Given the description of an element on the screen output the (x, y) to click on. 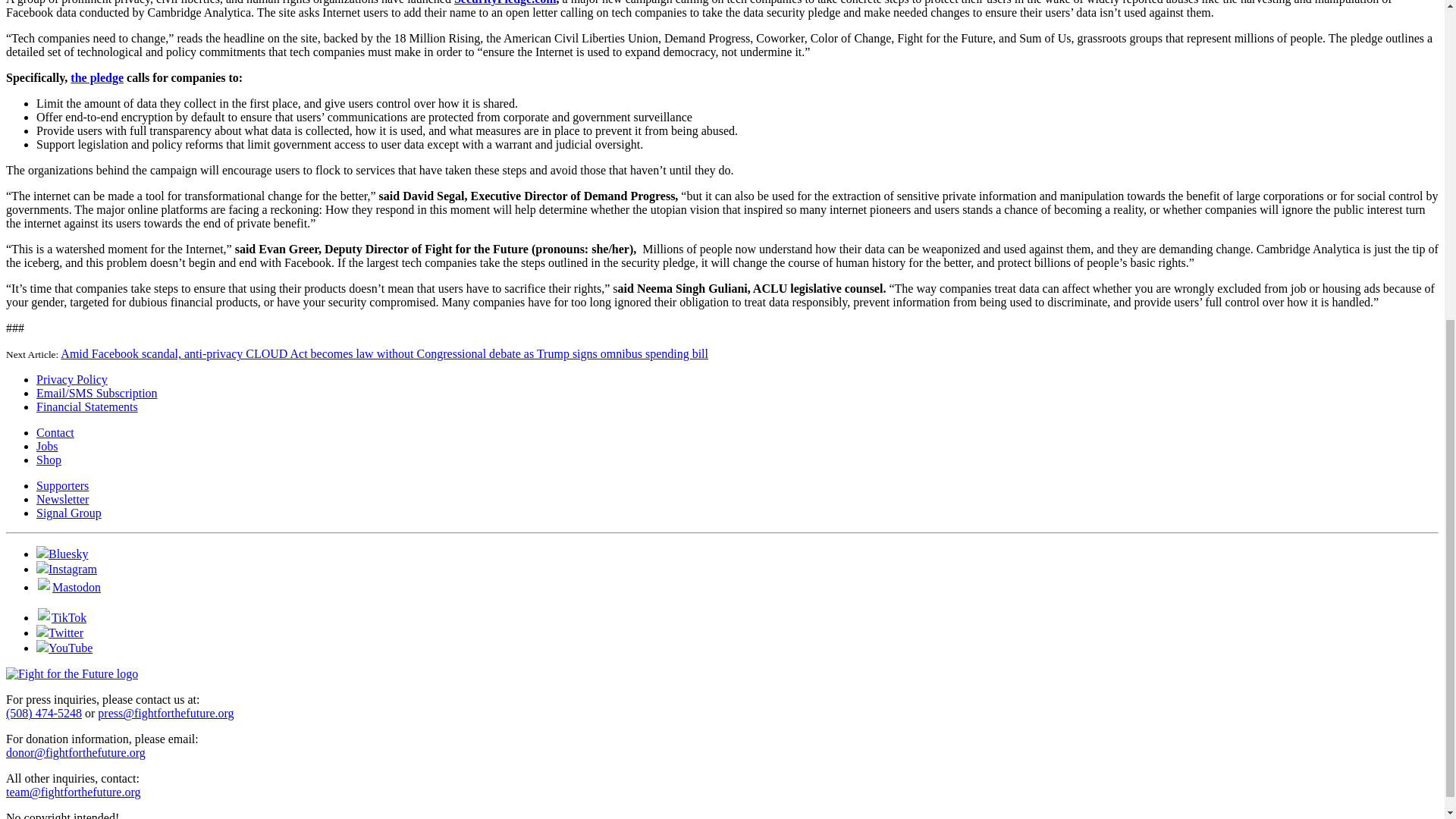
Shop (48, 459)
Twitter (59, 632)
YouTube (64, 647)
SecurityPledge.com (505, 2)
Jobs (47, 445)
the pledge (96, 77)
Supporters (62, 485)
Bluesky (61, 553)
Instagram (66, 568)
Newsletter (62, 499)
